Given the description of an element on the screen output the (x, y) to click on. 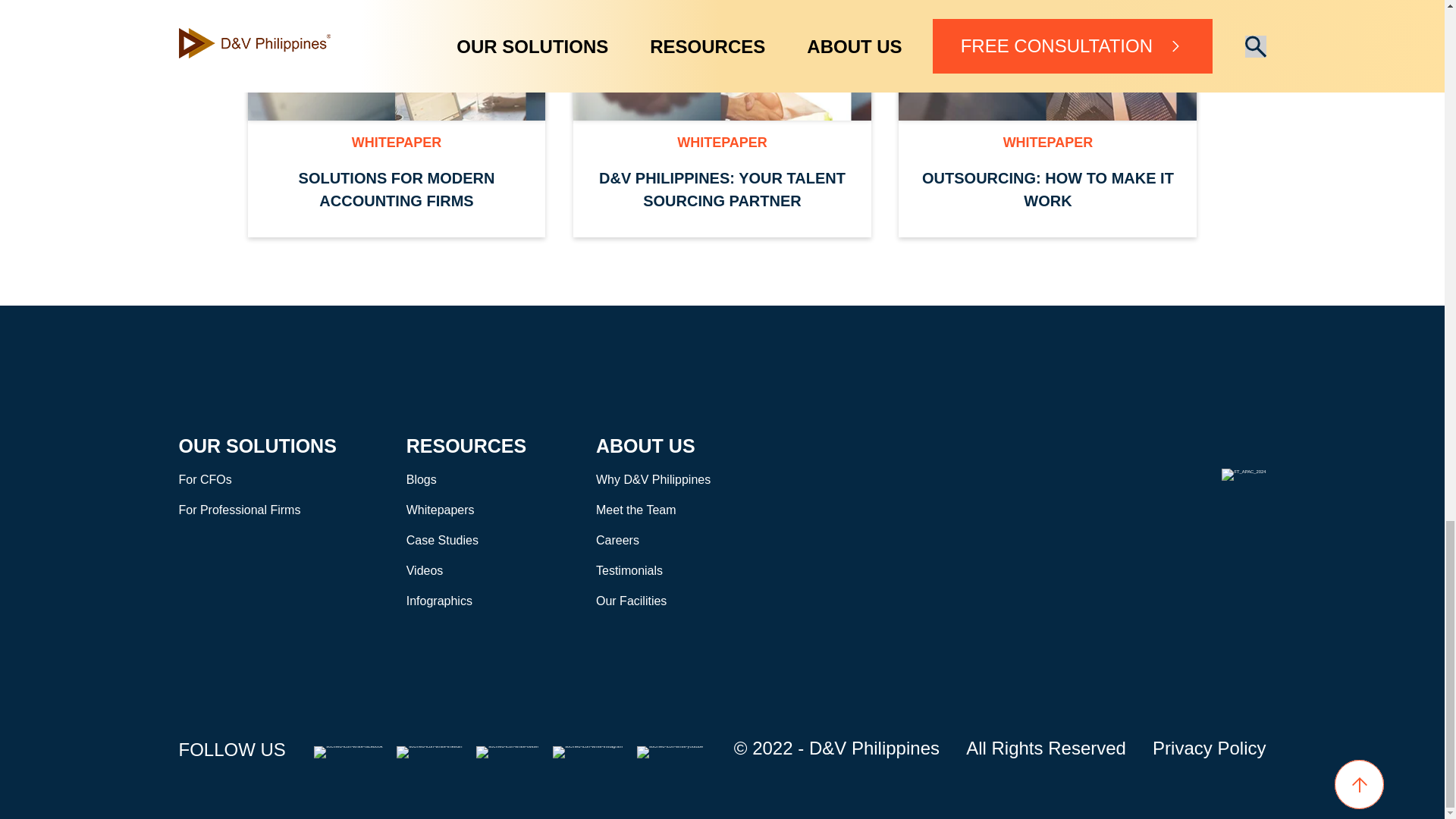
Whitepapers (440, 509)
Our Facilities (630, 600)
SOLUTIONS FOR MODERN ACCOUNTING FIRMS (396, 189)
For CFOs (205, 479)
Case Studies (442, 540)
Meet the Team (636, 509)
For Professional Firms (240, 509)
Testimonials (628, 570)
Blogs (421, 479)
OUTSOURCING: HOW TO MAKE IT WORK (1047, 189)
Careers (617, 540)
Infographics (438, 600)
Videos (425, 570)
